Given the description of an element on the screen output the (x, y) to click on. 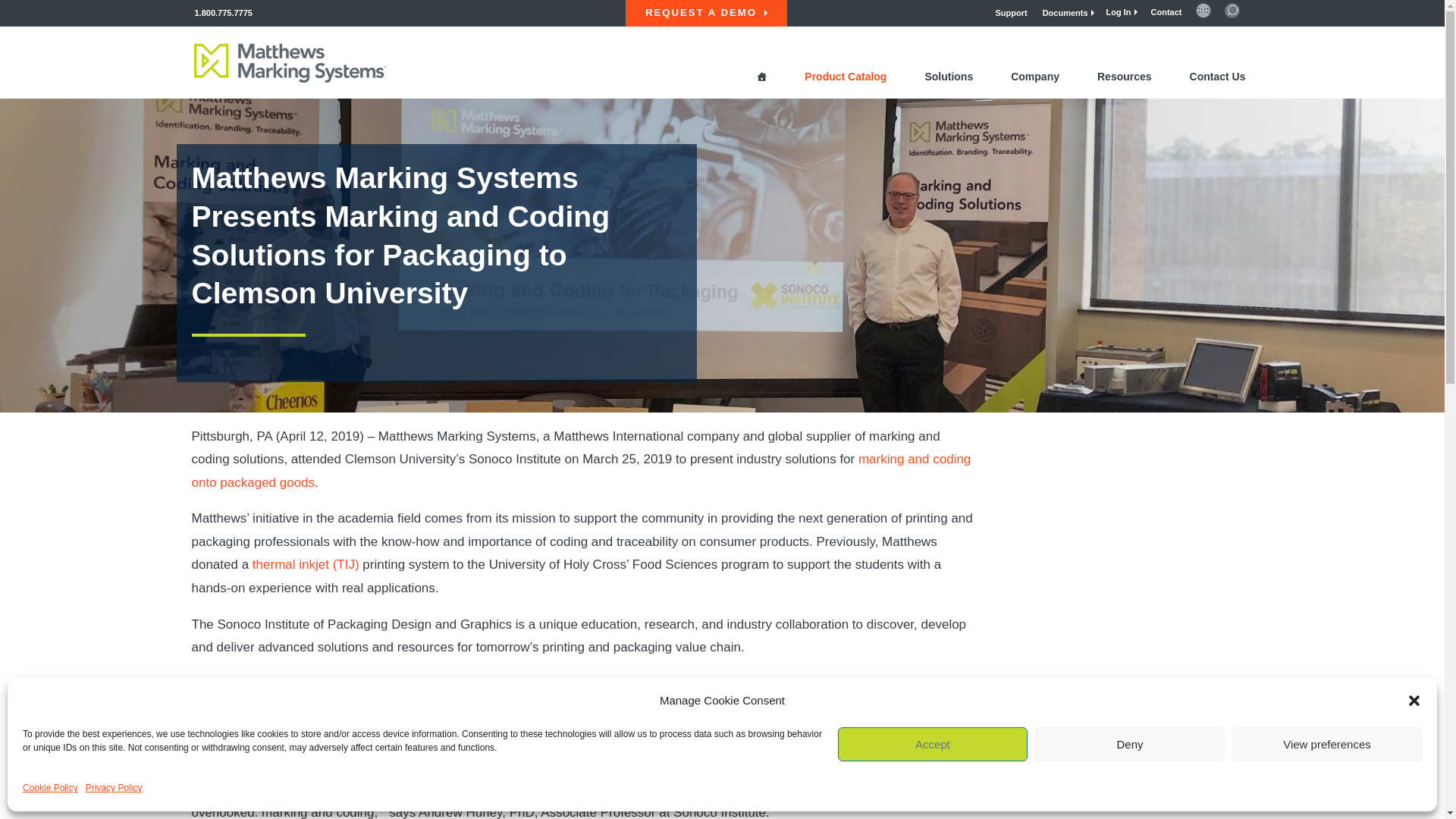
Documents (1068, 12)
1.800.775.7775 (222, 12)
REQUEST A DEMO (706, 13)
Deny (1129, 744)
Contact (1166, 11)
Accept (932, 744)
Log In (1121, 11)
Matthews Marking Systems (289, 67)
Privacy Policy (113, 788)
Support (1010, 12)
Cookie Policy (50, 788)
View preferences (1326, 744)
